Given the description of an element on the screen output the (x, y) to click on. 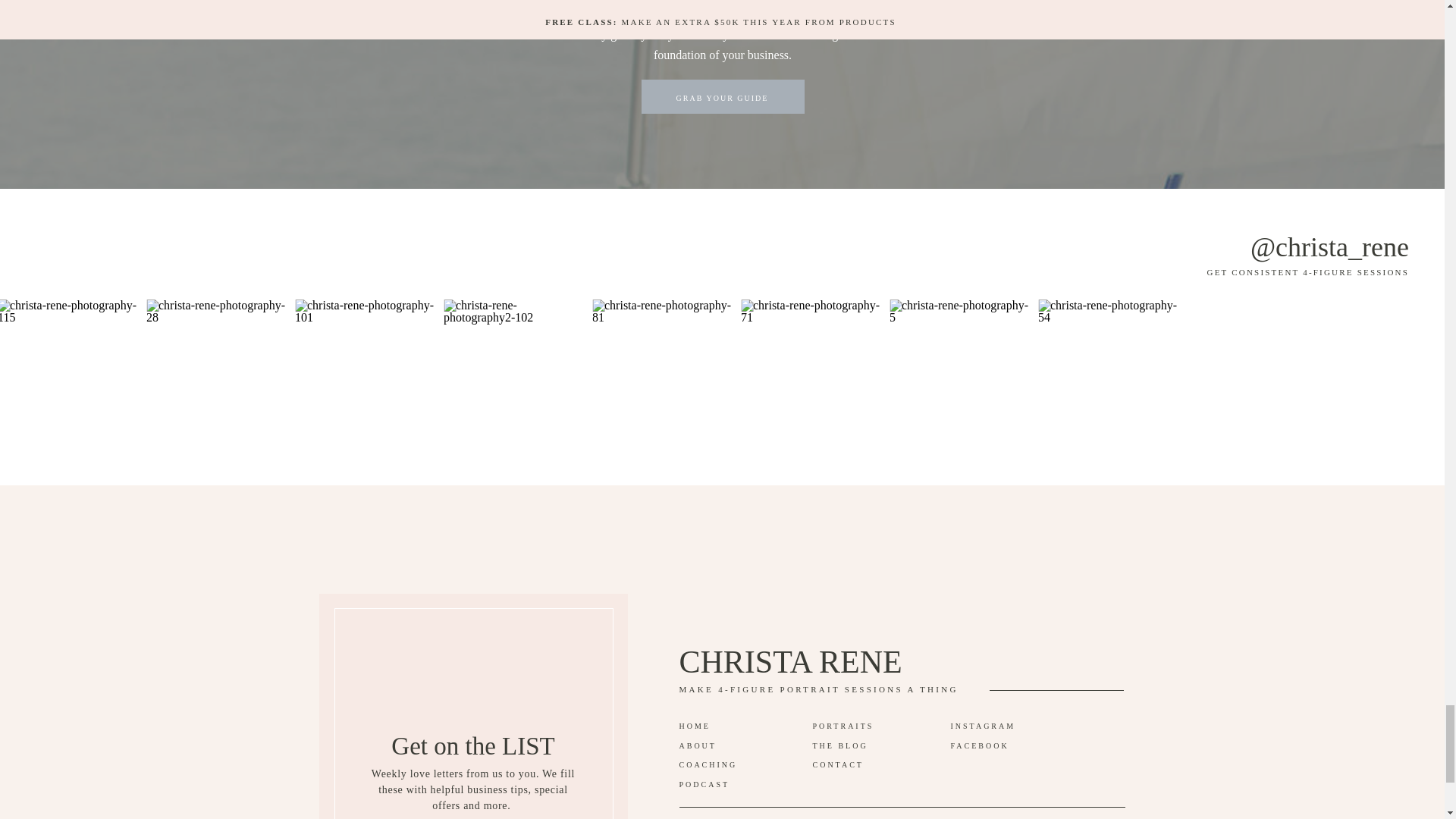
christa-rene-photography-101 (365, 370)
christa-rene-photography-115 (69, 370)
christa-rene-photography-28 (217, 370)
christa-rene-photography-54 (1108, 370)
christa-rene-photography-39 (1256, 370)
christa-rene-photography-5 (959, 370)
christa-rene-photography2-102 (514, 370)
christa-rene-photography-81 (662, 370)
christa-rene-photography-71 (811, 370)
